Given the description of an element on the screen output the (x, y) to click on. 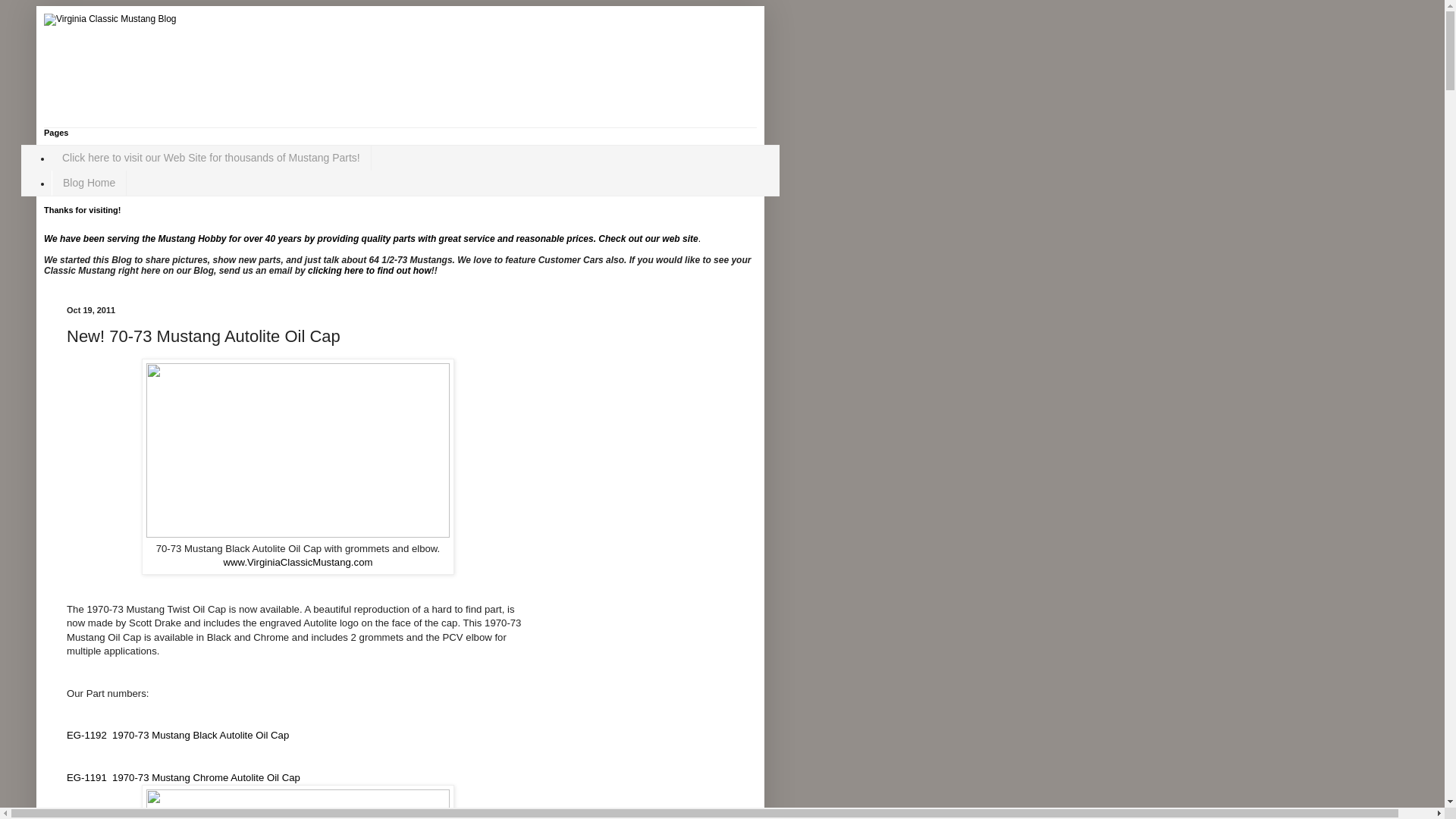
clicking here to find out how (368, 270)
www.VirginiaClassicMustang.com (298, 562)
EG-1191  1970-73 Mustang Chrome Autolite Oil Cap (182, 777)
Blog Home (88, 182)
EG-1192  1970-73 Mustang Black Autolite Oil Cap (177, 735)
